Given the description of an element on the screen output the (x, y) to click on. 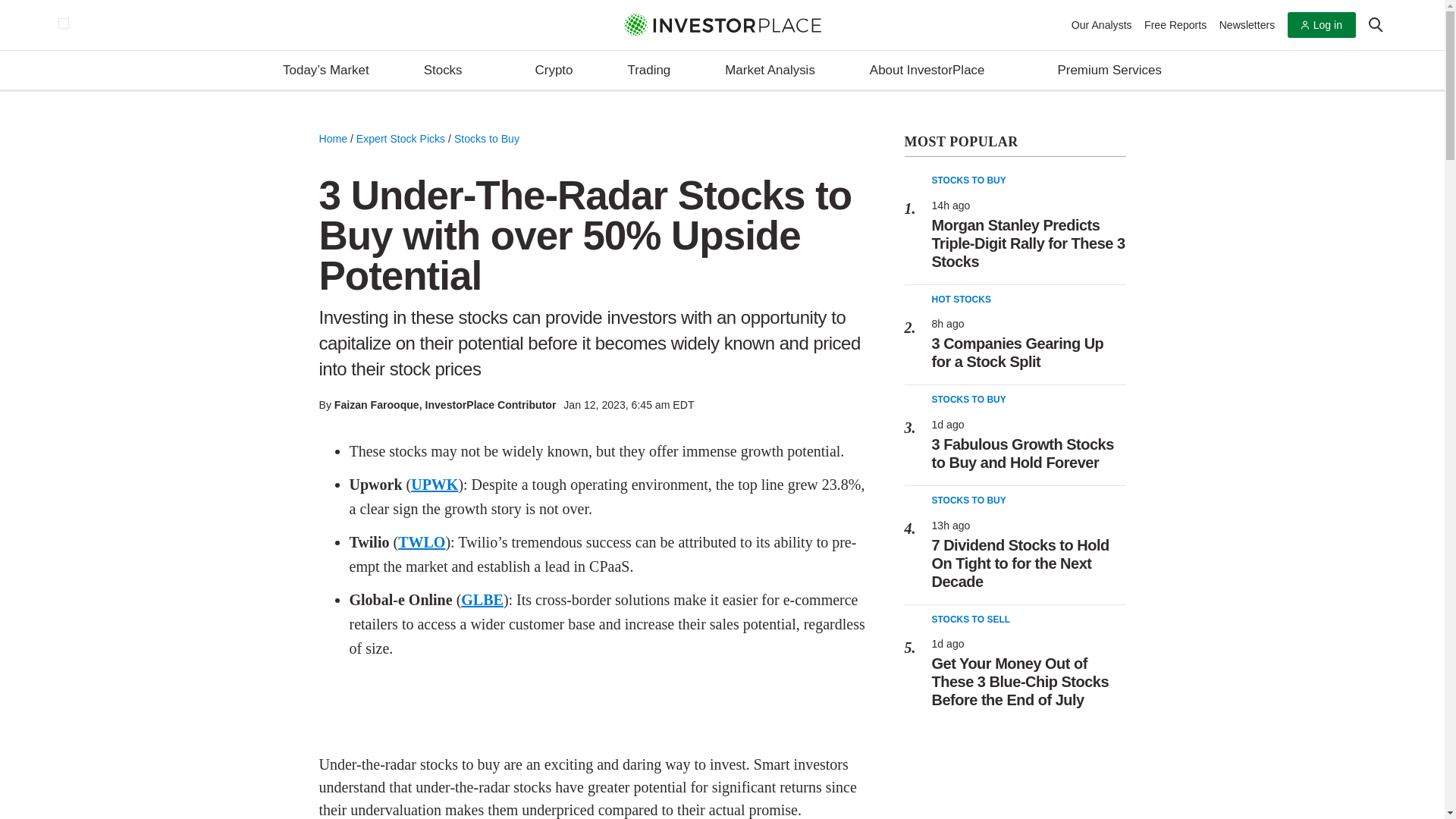
Newsletters (1247, 24)
Log in (1321, 25)
Our Analysts (1101, 24)
Stocks (452, 70)
Free Reports (1175, 24)
View profile of Faizan Farooque (376, 404)
View Most Read Content (1014, 142)
